Given the description of an element on the screen output the (x, y) to click on. 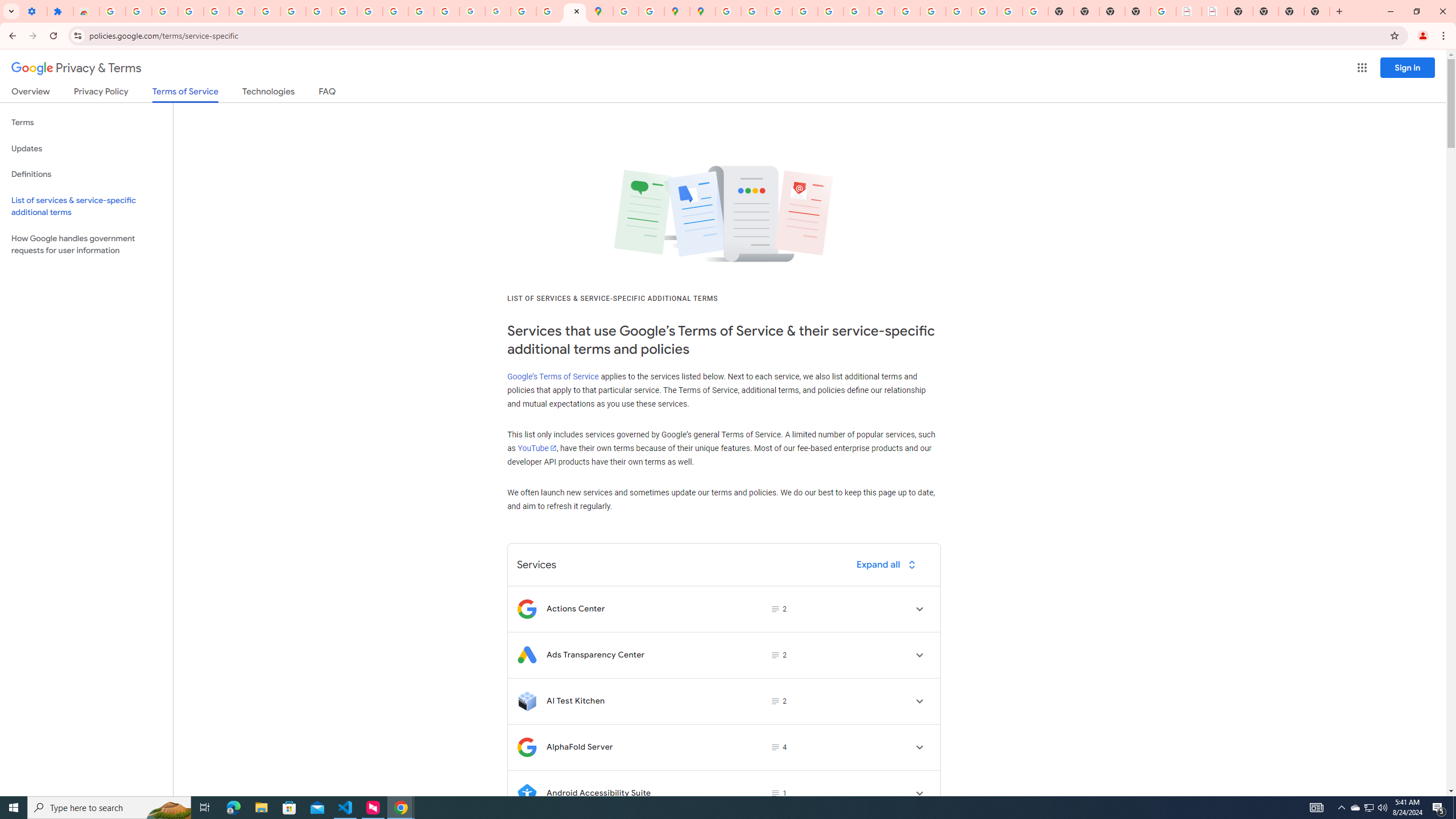
Reviews: Helix Fruit Jump Arcade Game (86, 11)
LAAD Defence & Security 2025 | BAE Systems (1188, 11)
YouTube (536, 447)
Google Maps (600, 11)
How Google handles government requests for user information (86, 244)
